Given the description of an element on the screen output the (x, y) to click on. 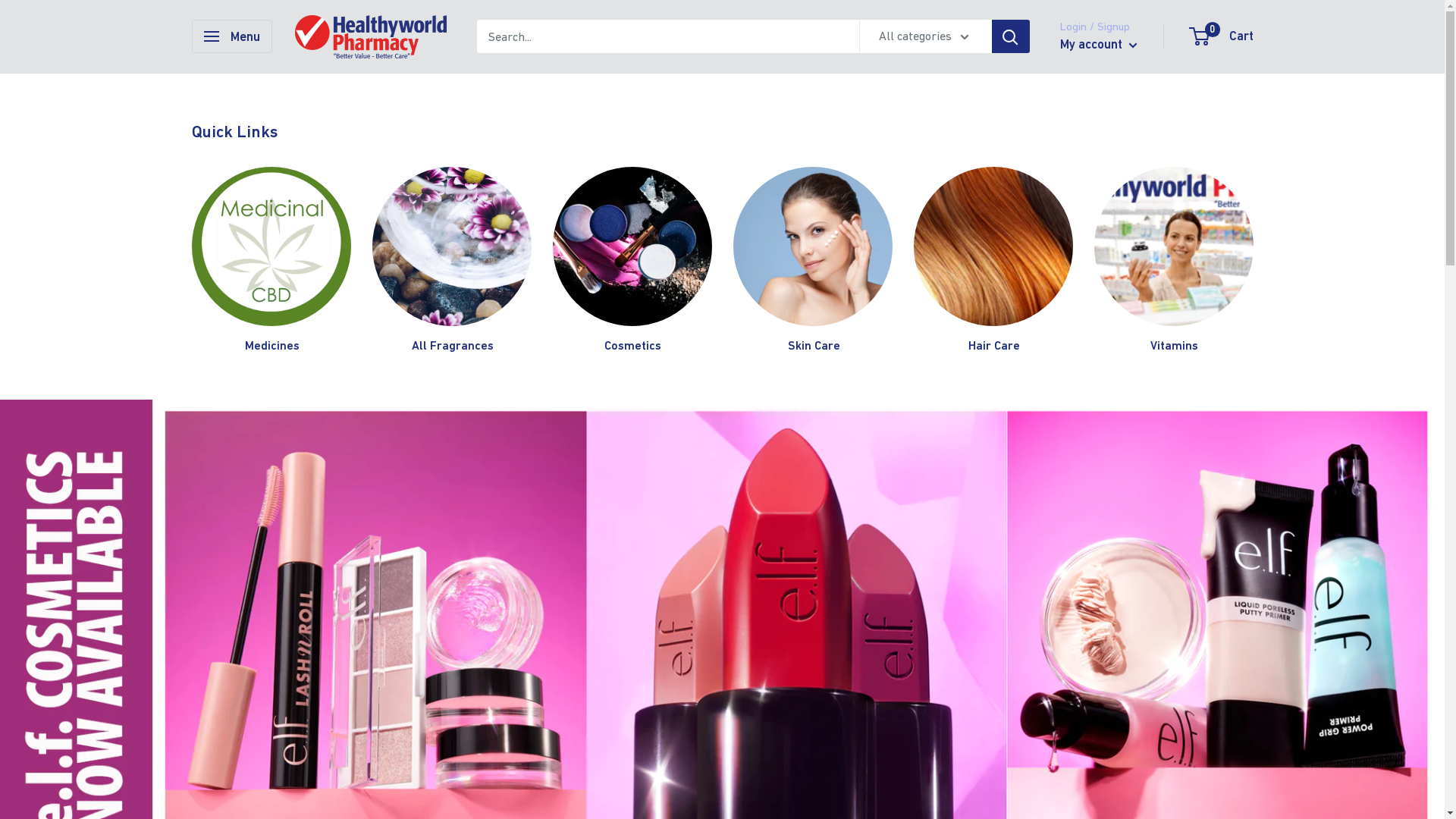
My account Element type: text (1098, 44)
0
Cart Element type: text (1221, 36)
Cosmetics Element type: text (631, 260)
Hair Care Element type: text (993, 260)
All Fragrances Element type: text (451, 260)
Medicines Element type: text (270, 260)
Vitamins Element type: text (1172, 260)
Menu Element type: text (231, 36)
Skin Care Element type: text (811, 260)
Healthyworld Pharmacy Element type: text (369, 36)
